Given the description of an element on the screen output the (x, y) to click on. 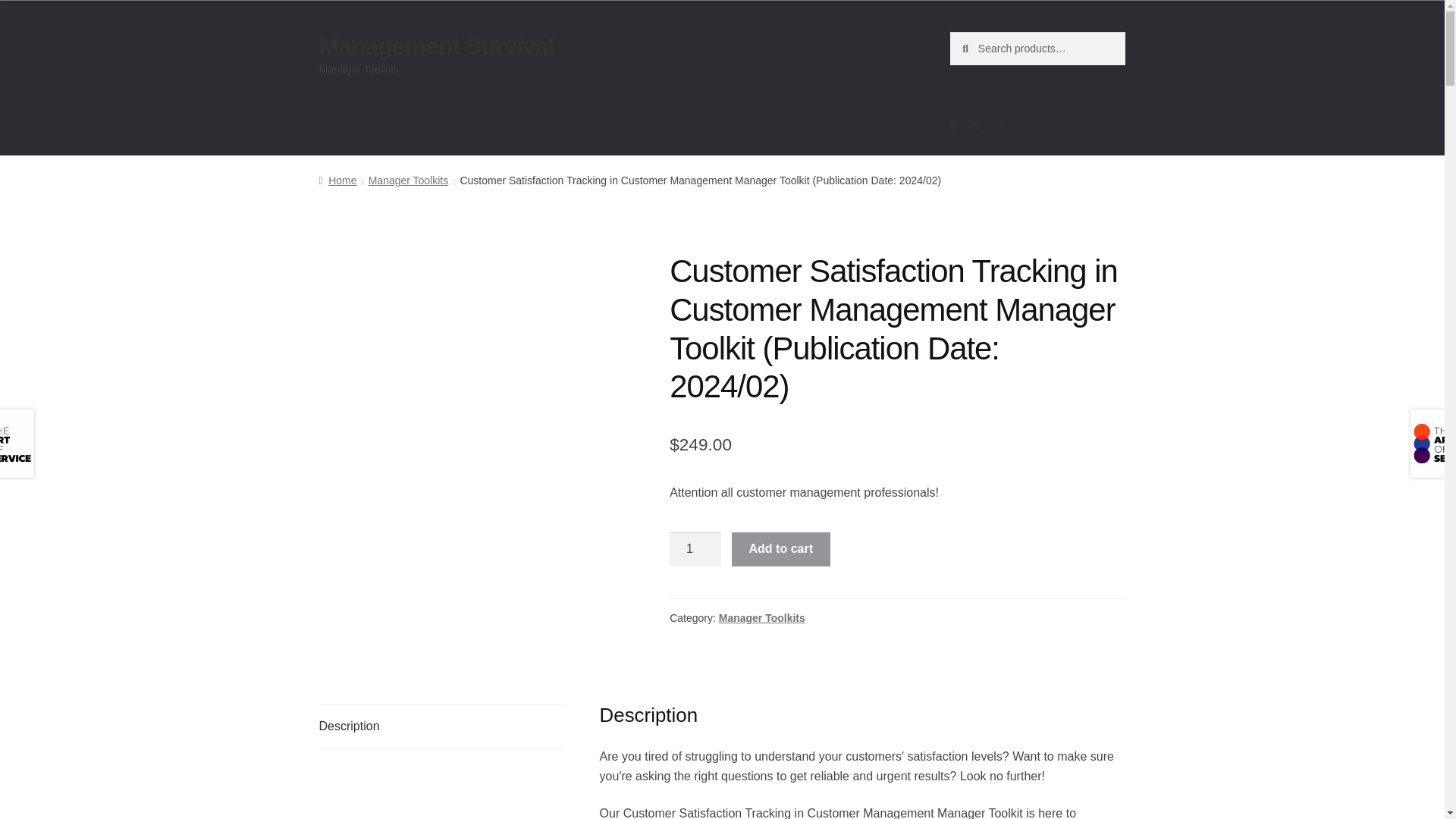
View your shopping cart (1037, 124)
Home (337, 180)
Description (441, 726)
Management Survival (436, 45)
Manager Toolkits (762, 617)
1 (694, 549)
Manager Toolkits (408, 180)
Add to cart (780, 549)
